Given the description of an element on the screen output the (x, y) to click on. 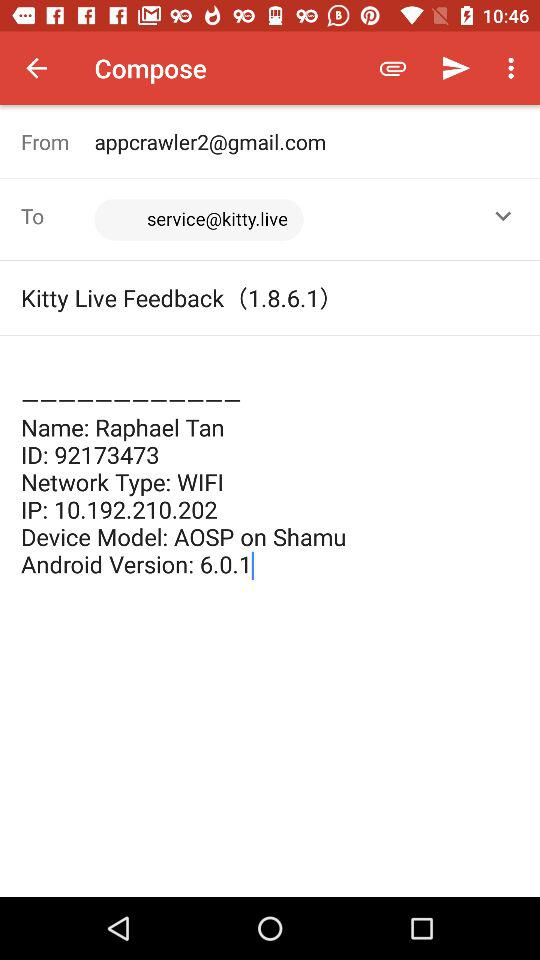
choose the to item (57, 215)
